Given the description of an element on the screen output the (x, y) to click on. 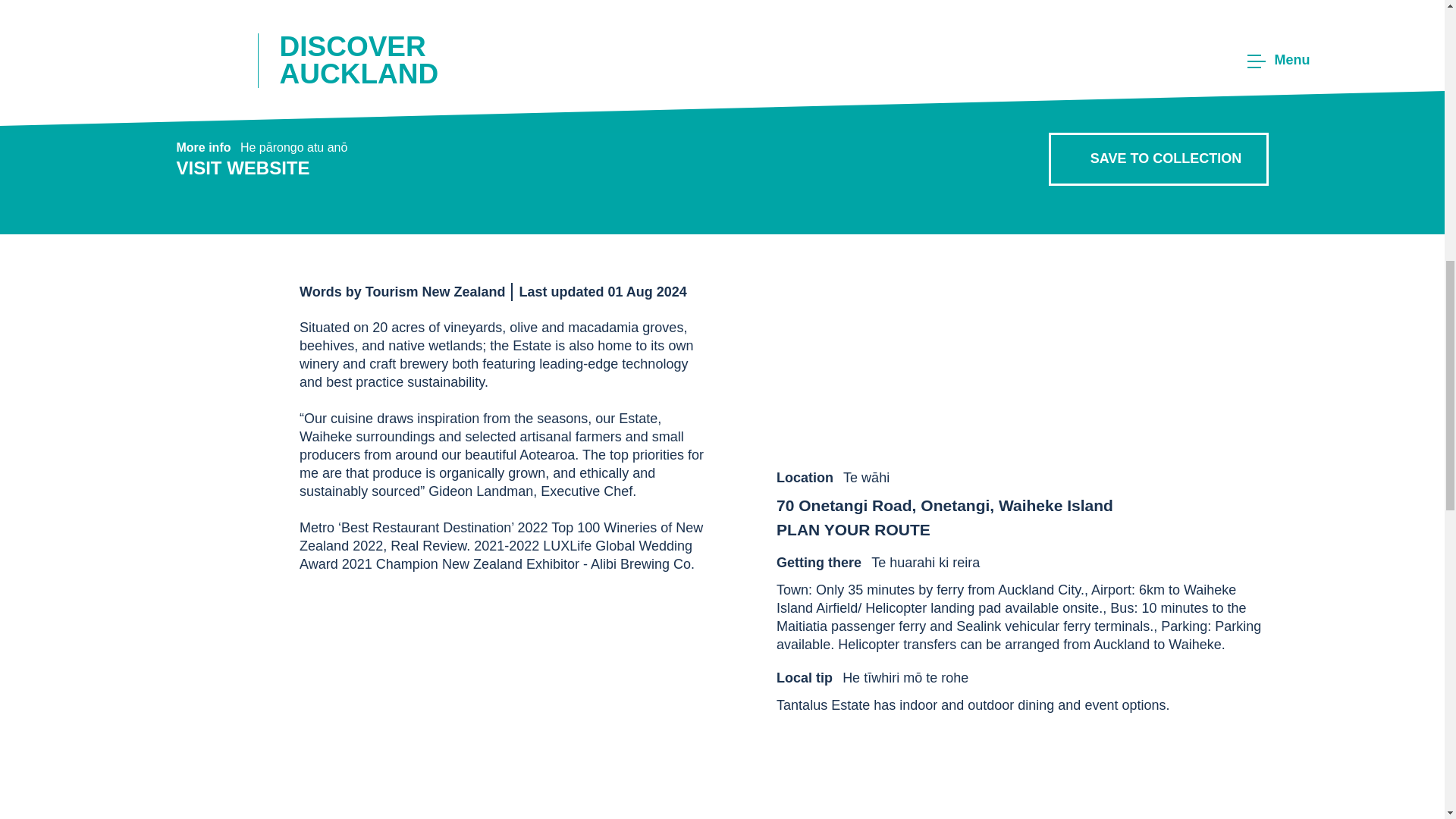
PLAN YOUR ROUTE (944, 529)
VISIT WEBSITE (366, 168)
SAVE TO COLLECTION (1158, 158)
